Given the description of an element on the screen output the (x, y) to click on. 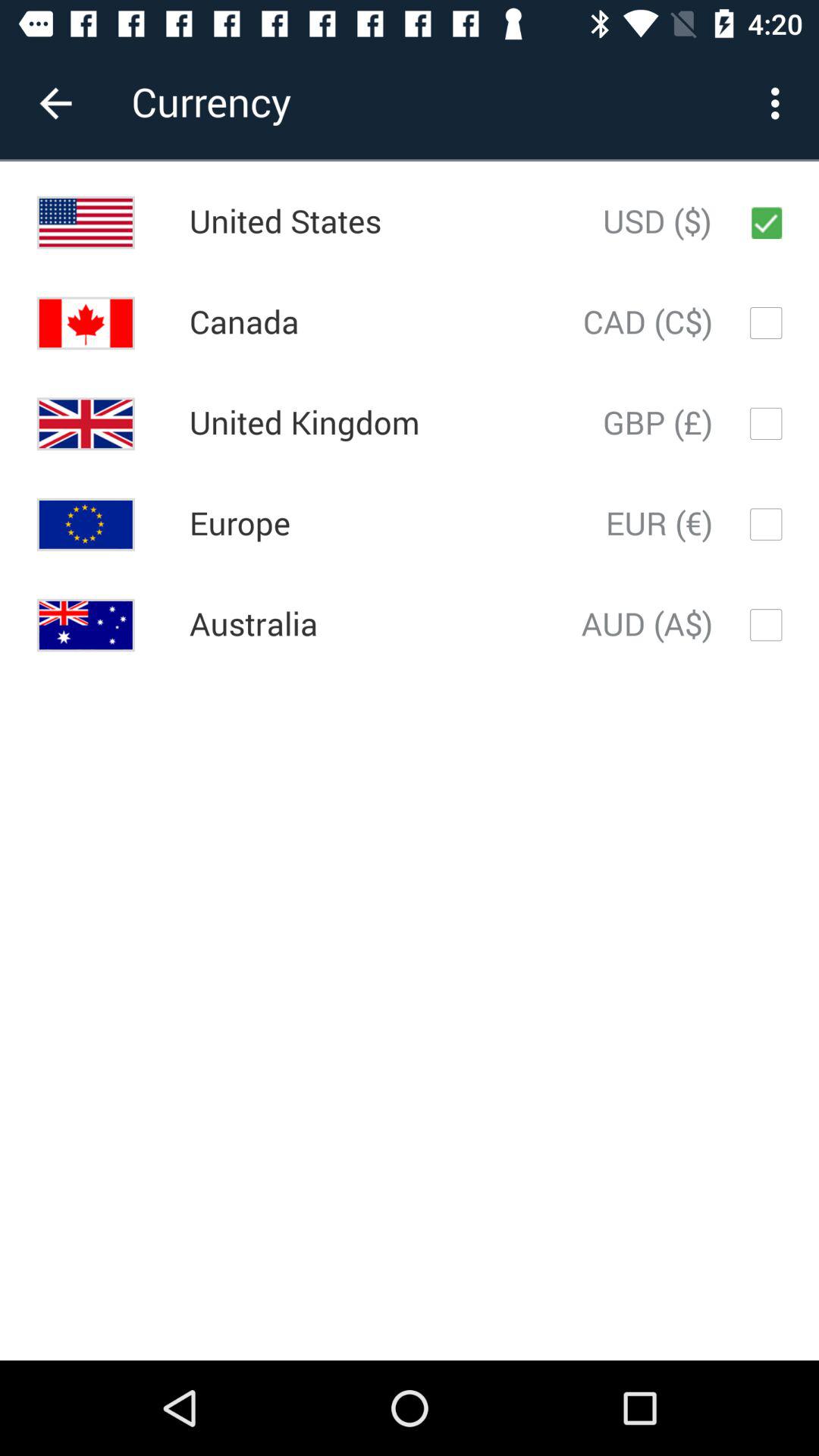
tap australia (253, 624)
